Given the description of an element on the screen output the (x, y) to click on. 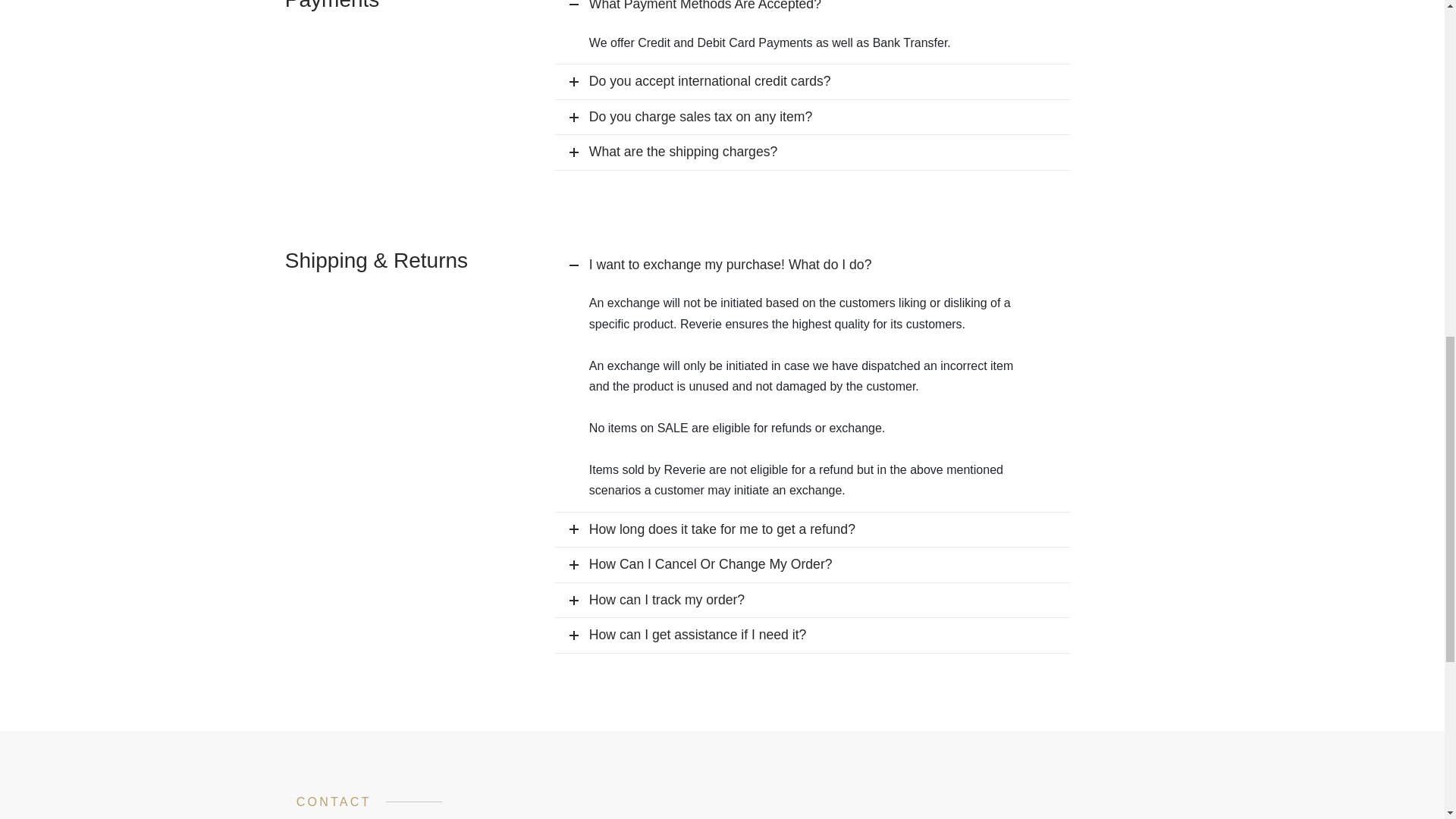
I want to exchange my purchase! What do I do? (812, 265)
How long does it take for me to get a refund? (812, 529)
How can I get assistance if I need it? (812, 635)
What Payment Methods Are Accepted? (812, 11)
What are the shipping charges? (812, 152)
How Can I Cancel Or Change My Order? (812, 564)
How can I track my order? (812, 600)
Do you charge sales tax on any item? (812, 117)
Scroll To Top (1413, 18)
Do you accept international credit cards? (812, 81)
